Given the description of an element on the screen output the (x, y) to click on. 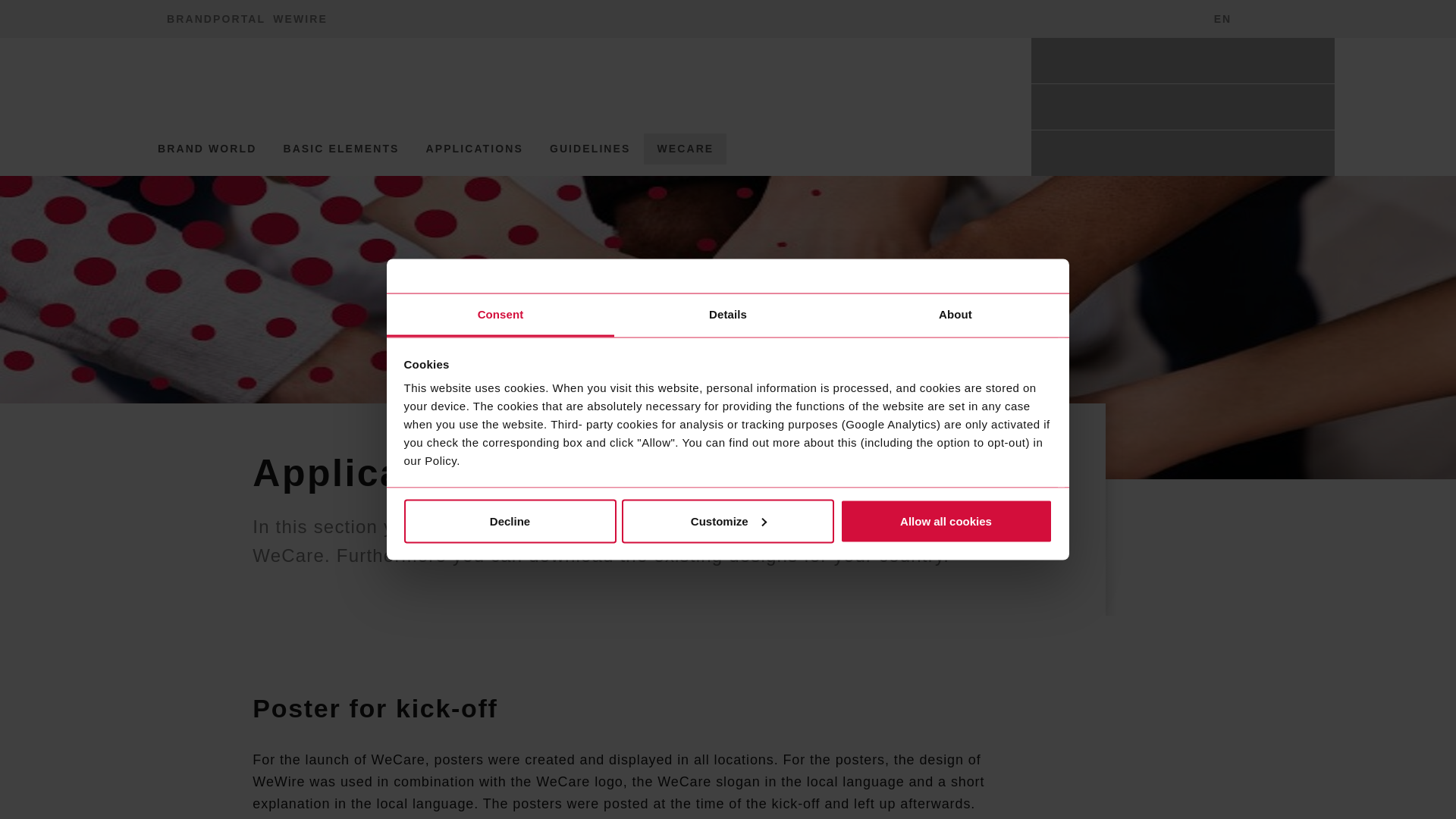
BRAND WORLD (206, 148)
Consent (500, 315)
CONTACT US (1269, 18)
About (954, 315)
Details (727, 315)
Decline (509, 520)
Customize (1209, 18)
Allow all cookies (727, 520)
